Given the description of an element on the screen output the (x, y) to click on. 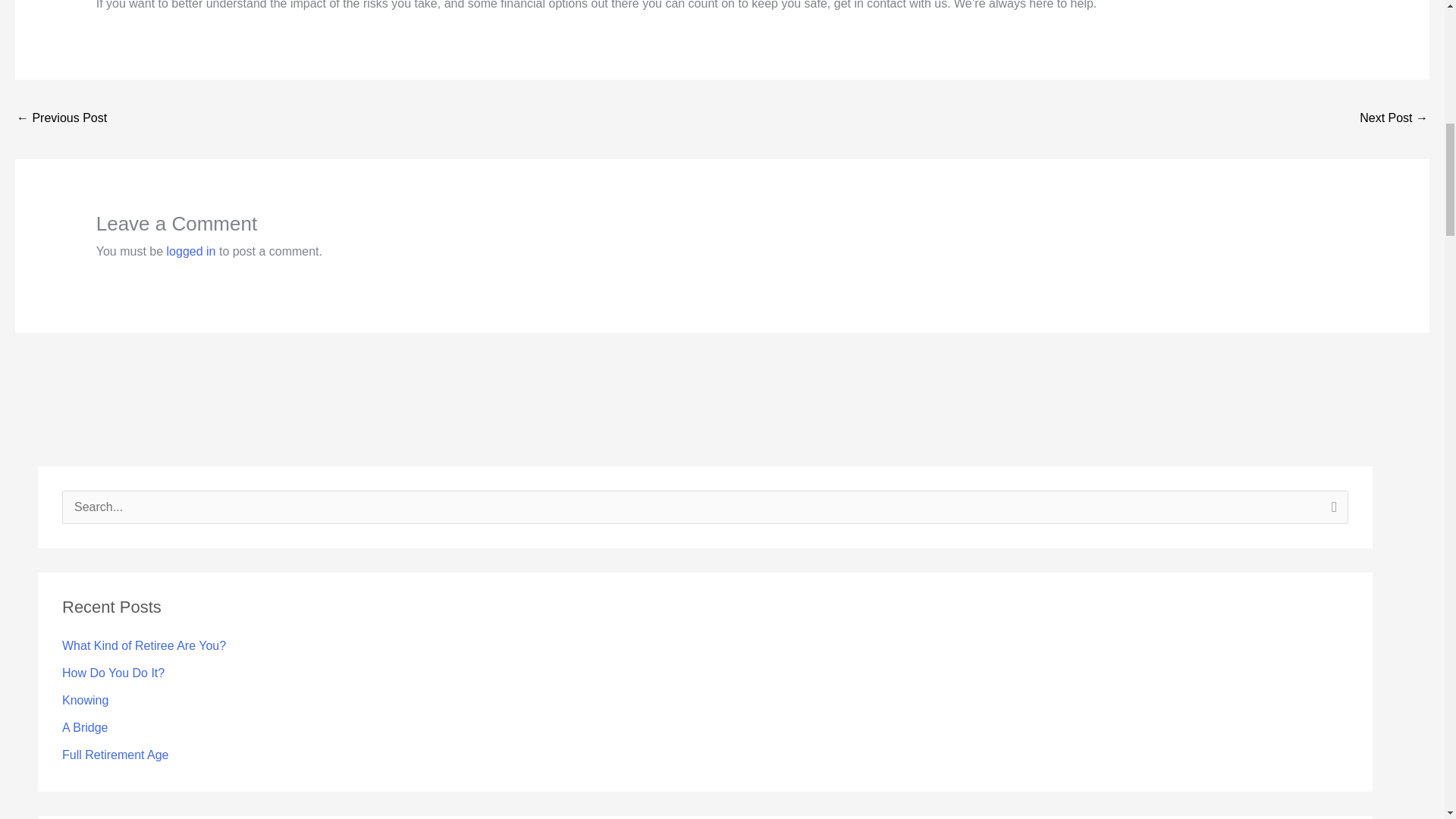
At Your Most Vulnerable (1393, 119)
Did you forget and leave it behind? (61, 119)
